Given the description of an element on the screen output the (x, y) to click on. 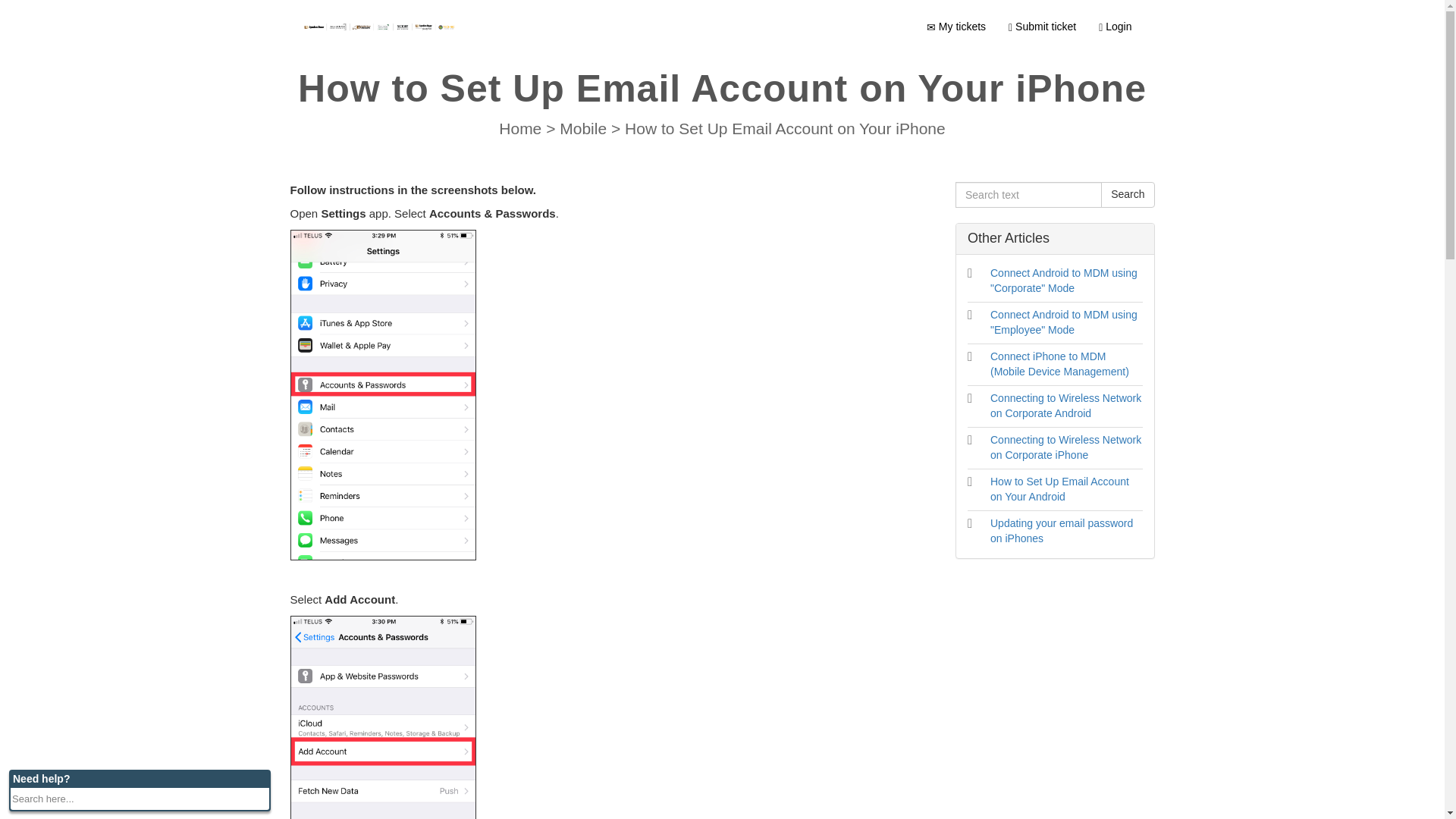
Connecting to Wireless Network on Corporate iPhone (1065, 447)
How to Set Up Email Account on Your Android (1059, 488)
Connecting to Wireless Network on Corporate Android (1065, 405)
Connect Android to MDM using "Corporate" Mode (1063, 280)
Search (1127, 194)
Mobile (585, 128)
Home (522, 128)
Connecting to Wireless Network on Corporate Android (1065, 405)
Connect Android to MDM using "Employee" Mode (1063, 321)
My tickets (956, 26)
Connect Android to MDM using "Corporate" Mode (1063, 280)
How to Set Up Email Account on Your Android (1059, 488)
Connecting to Wireless Network on Corporate iPhone (1065, 447)
Login (1114, 26)
Search (1127, 194)
